Given the description of an element on the screen output the (x, y) to click on. 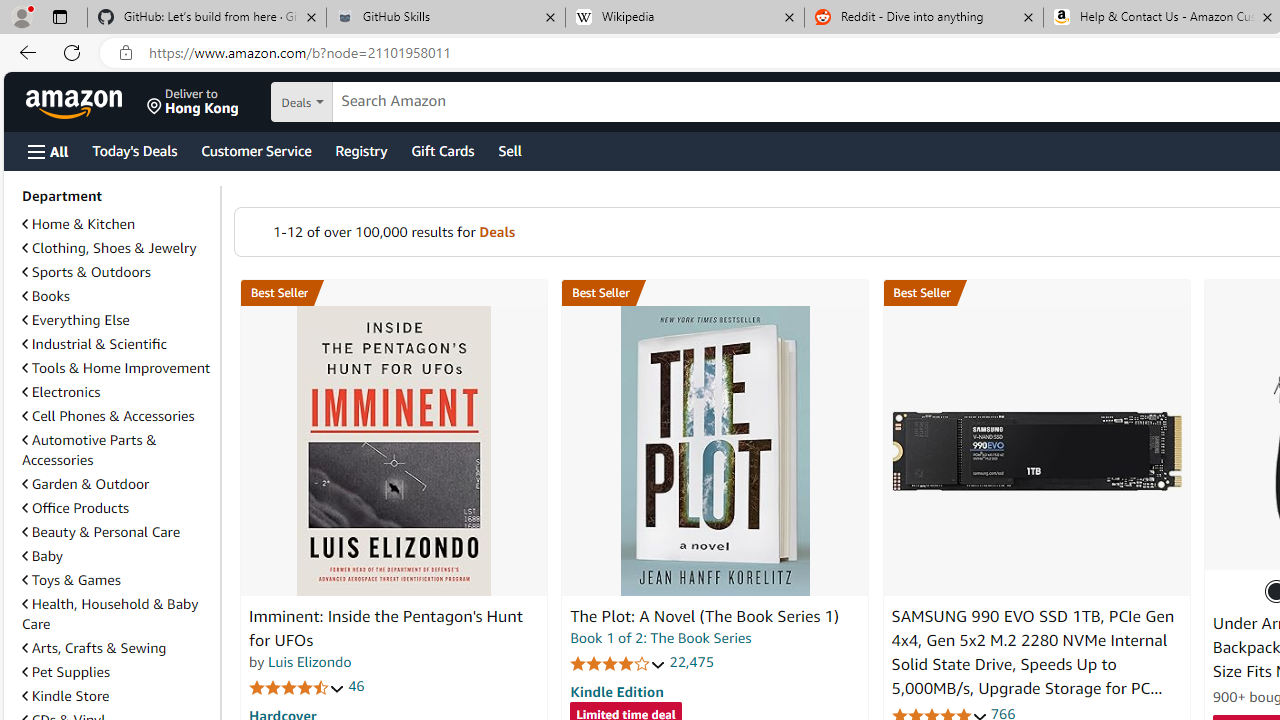
The Plot: A Novel (The Book Series 1) (703, 616)
Amazon (76, 101)
Home & Kitchen (78, 224)
4.2 out of 5 stars (617, 663)
Everything Else (75, 320)
Beauty & Personal Care (117, 532)
Book 1 of 2: The Book Series (660, 638)
Toys & Games (71, 579)
Industrial & Scientific (117, 344)
Reddit - Dive into anything (924, 17)
Health, Household & Baby Care (117, 614)
Garden & Outdoor (85, 484)
Health, Household & Baby Care (109, 613)
Cell Phones & Accessories (107, 415)
Registry (360, 150)
